Given the description of an element on the screen output the (x, y) to click on. 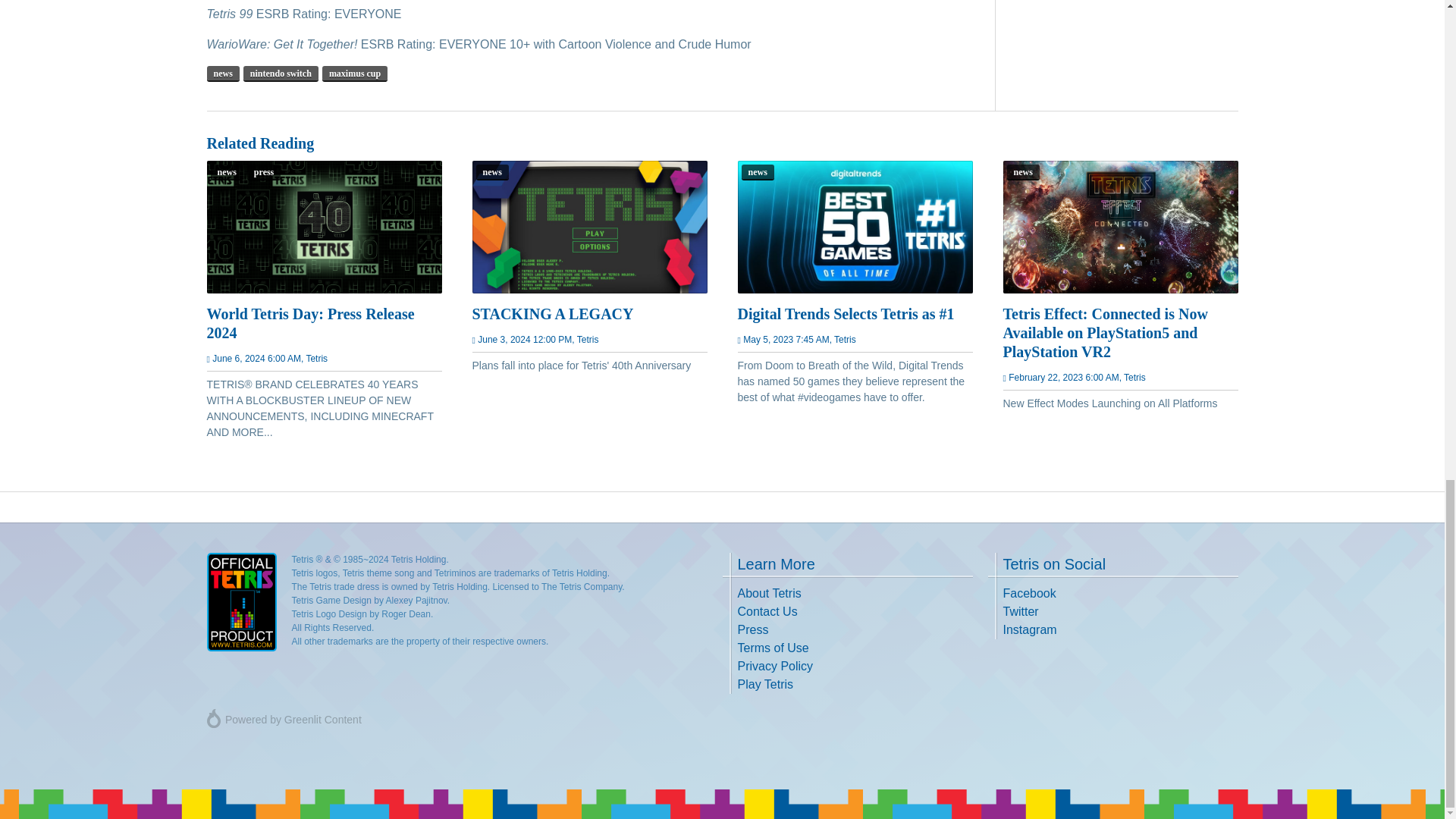
World Tetris Day: Press Release 2024 (323, 323)
news (757, 171)
Tetris (587, 339)
press (264, 171)
Tetris (845, 339)
news (222, 73)
Tetris (316, 357)
news (492, 171)
nintendo switch (280, 73)
maximus cup (354, 73)
